Given the description of an element on the screen output the (x, y) to click on. 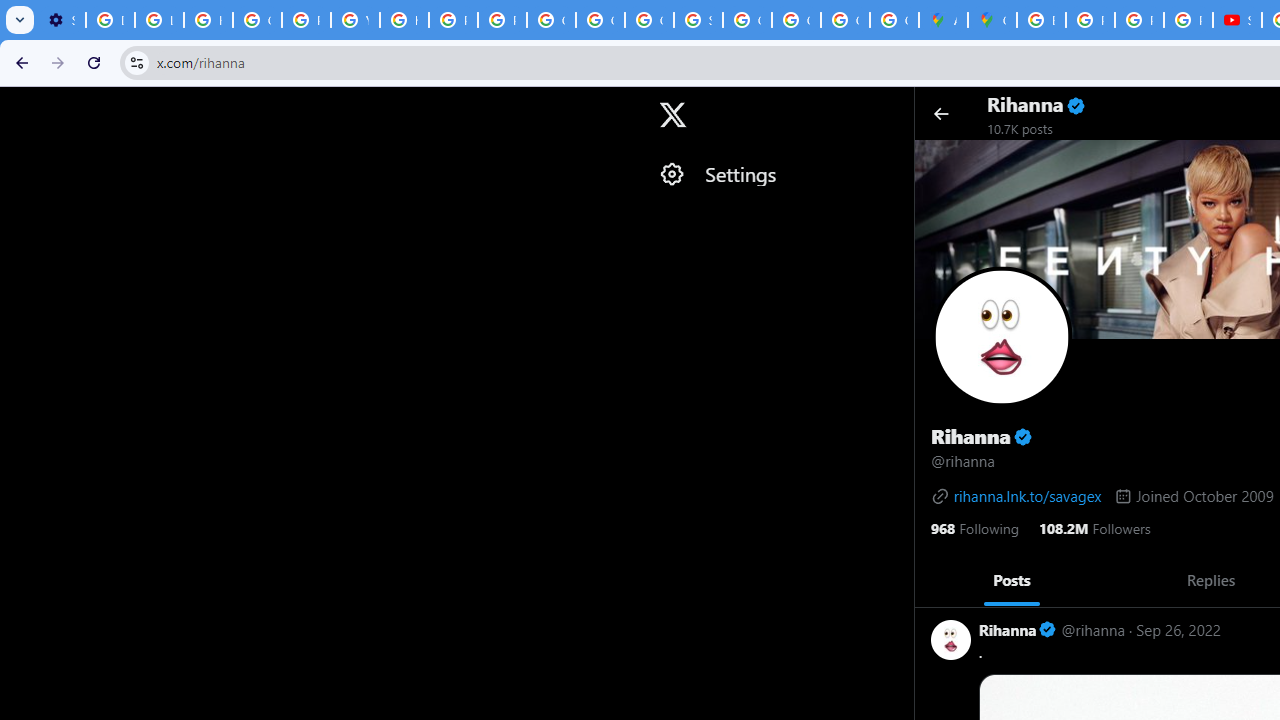
Learn how to find your photos - Google Photos Help (159, 20)
Verified account (1048, 629)
Posts (1011, 579)
Opens profile photo (1002, 336)
Privacy Help Center - Policies Help (306, 20)
108.2M Followers (1094, 526)
Provides details about verified accounts. (1022, 436)
Previous (936, 580)
Delete photos & videos - Computer - Google Photos Help (109, 20)
rihanna.lnk.to/savagex (1016, 496)
